Given the description of an element on the screen output the (x, y) to click on. 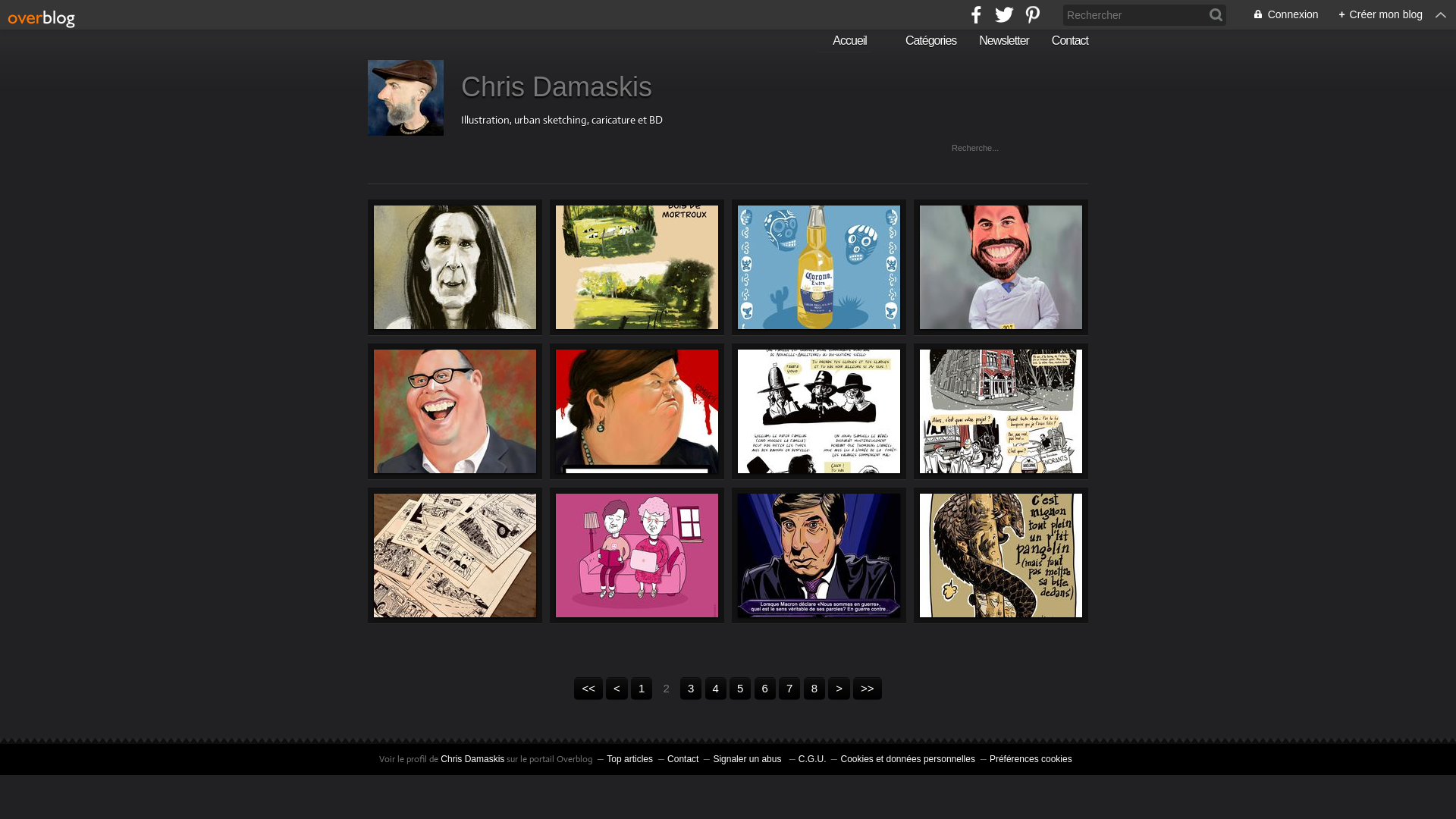
7 Element type: text (789, 688)
Connexion Element type: text (1277, 14)
> Element type: text (839, 688)
5 Element type: text (739, 688)
Top articles Element type: text (629, 758)
<< Element type: text (588, 688)
< Element type: text (616, 688)
Chris Damaskis Element type: text (556, 86)
4 Element type: text (715, 688)
Newsletter Element type: text (1004, 40)
6 Element type: text (764, 688)
3 Element type: text (690, 688)
C.G.U. Element type: text (812, 758)
Recherche Element type: text (25, 7)
>> Element type: text (867, 688)
Accueil Element type: text (843, 41)
Contact Element type: text (682, 758)
Signaler un abus Element type: text (747, 758)
 facebook Element type: hover (975, 14)
8 Element type: text (814, 688)
 pinterest Element type: hover (1031, 14)
1 Element type: text (641, 688)
Contact Element type: text (1069, 40)
Chris Damaskis Element type: text (472, 758)
 twitter Element type: hover (1003, 14)
